Given the description of an element on the screen output the (x, y) to click on. 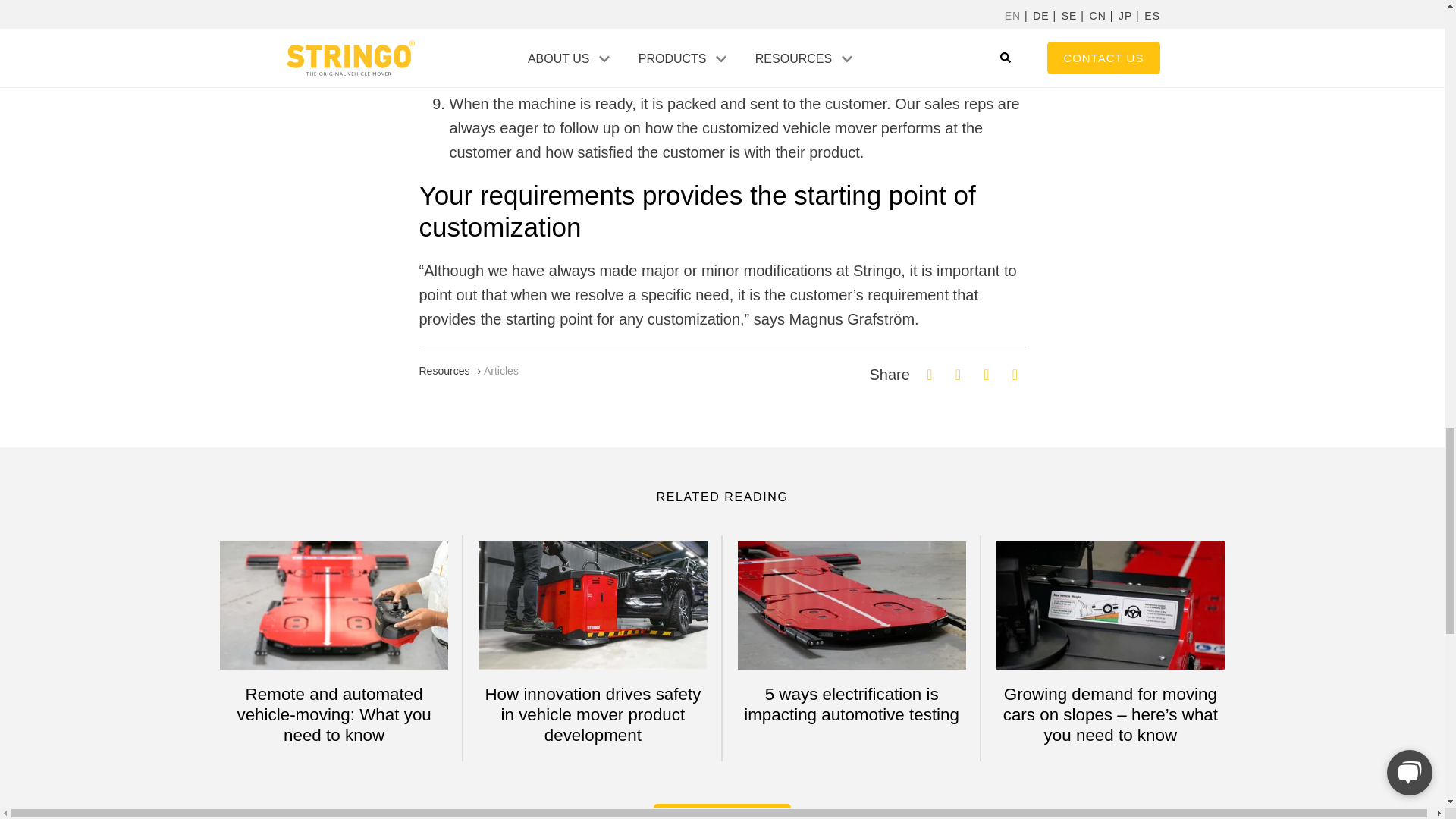
Resources (443, 370)
